Given the description of an element on the screen output the (x, y) to click on. 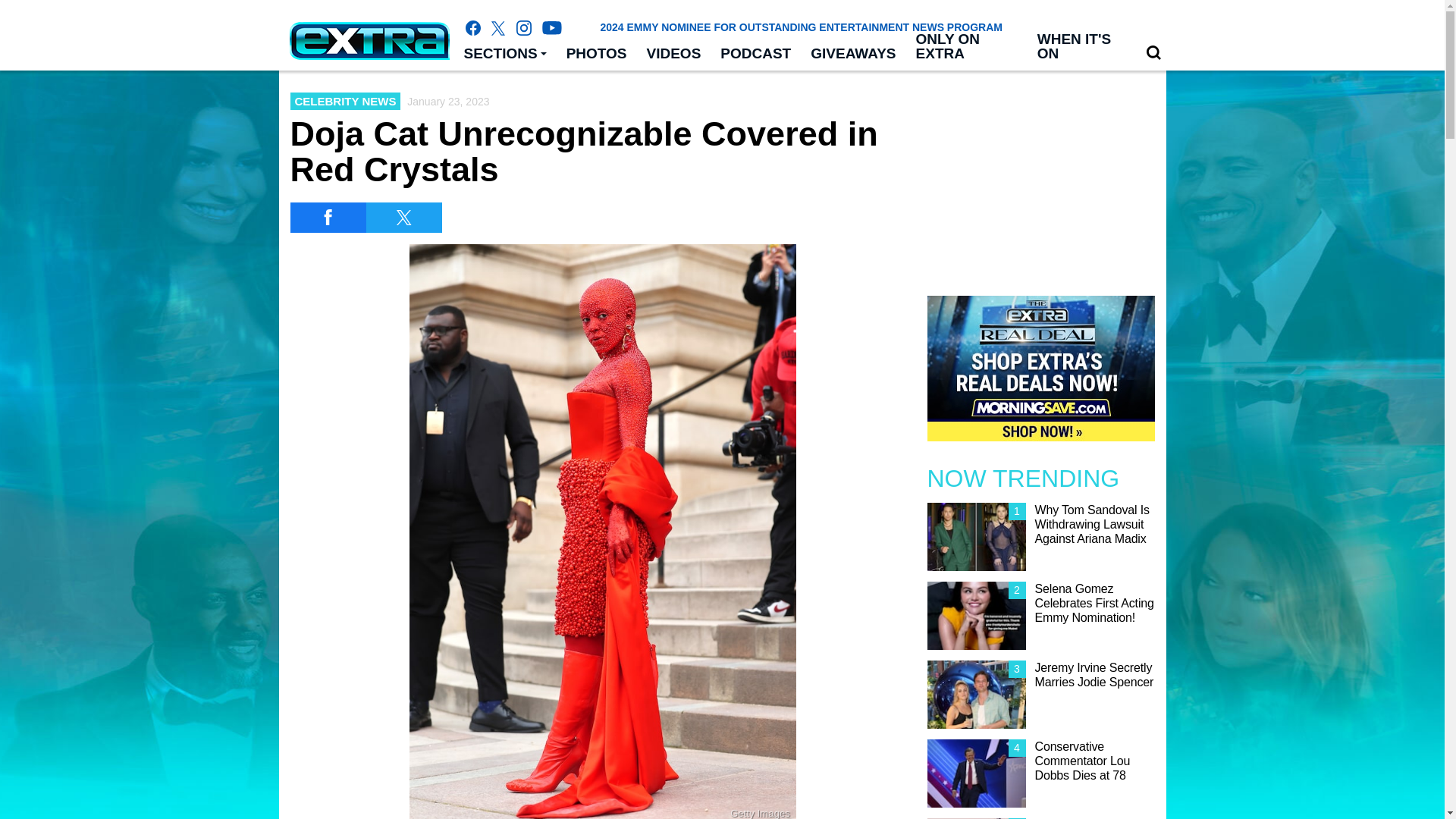
VIDEOS (674, 54)
3rd party ad content (721, 785)
PODCAST (755, 54)
3rd party ad content (1040, 176)
PHOTOS (596, 54)
SECTIONS (504, 54)
Search (1153, 52)
Search (1153, 53)
ONLY ON EXTRA (966, 47)
CELEBRITY NEWS (344, 100)
GIVEAWAYS (852, 54)
WHEN IT'S ON (1080, 47)
